Given the description of an element on the screen output the (x, y) to click on. 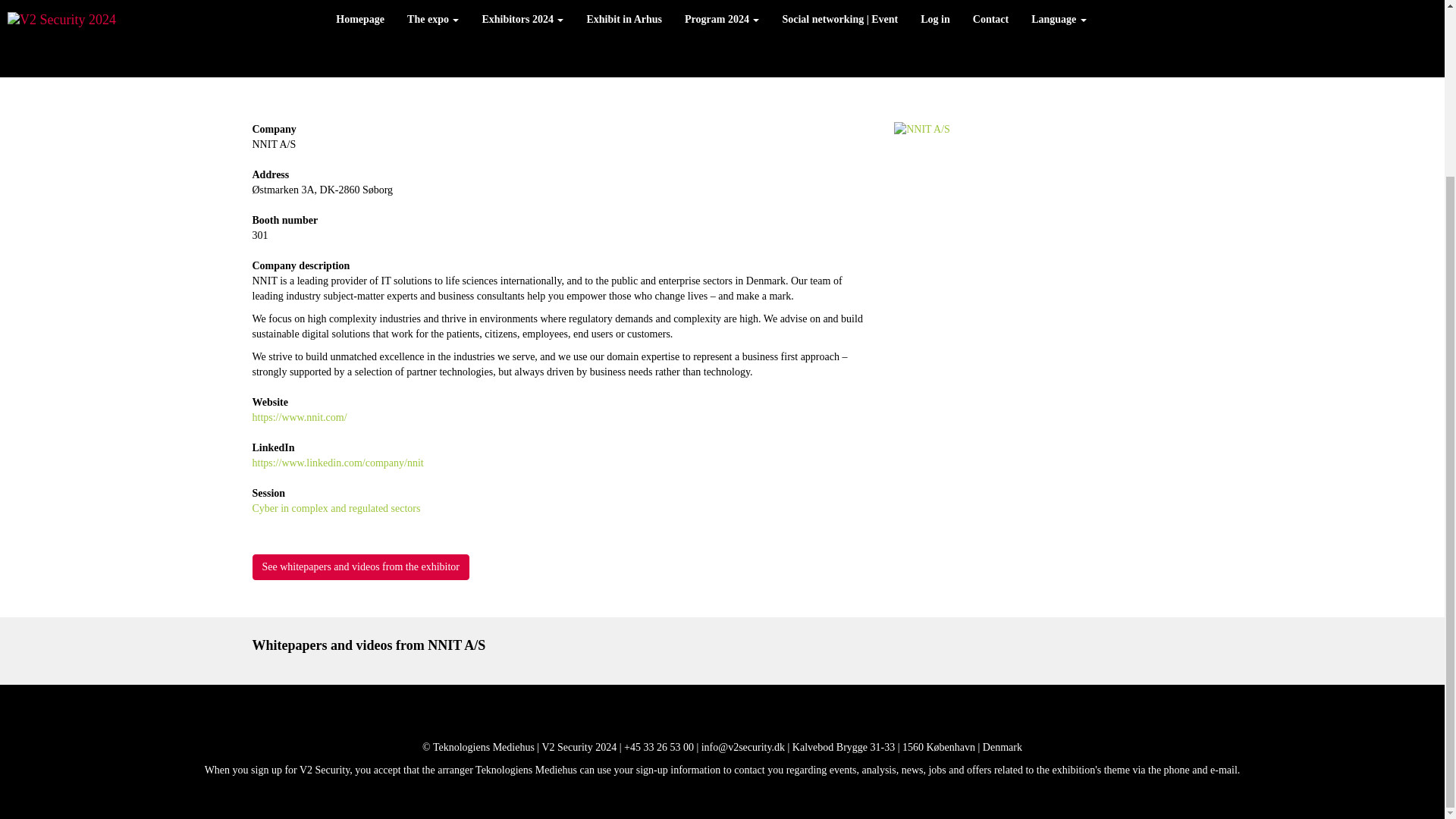
See content (359, 566)
